Given the description of an element on the screen output the (x, y) to click on. 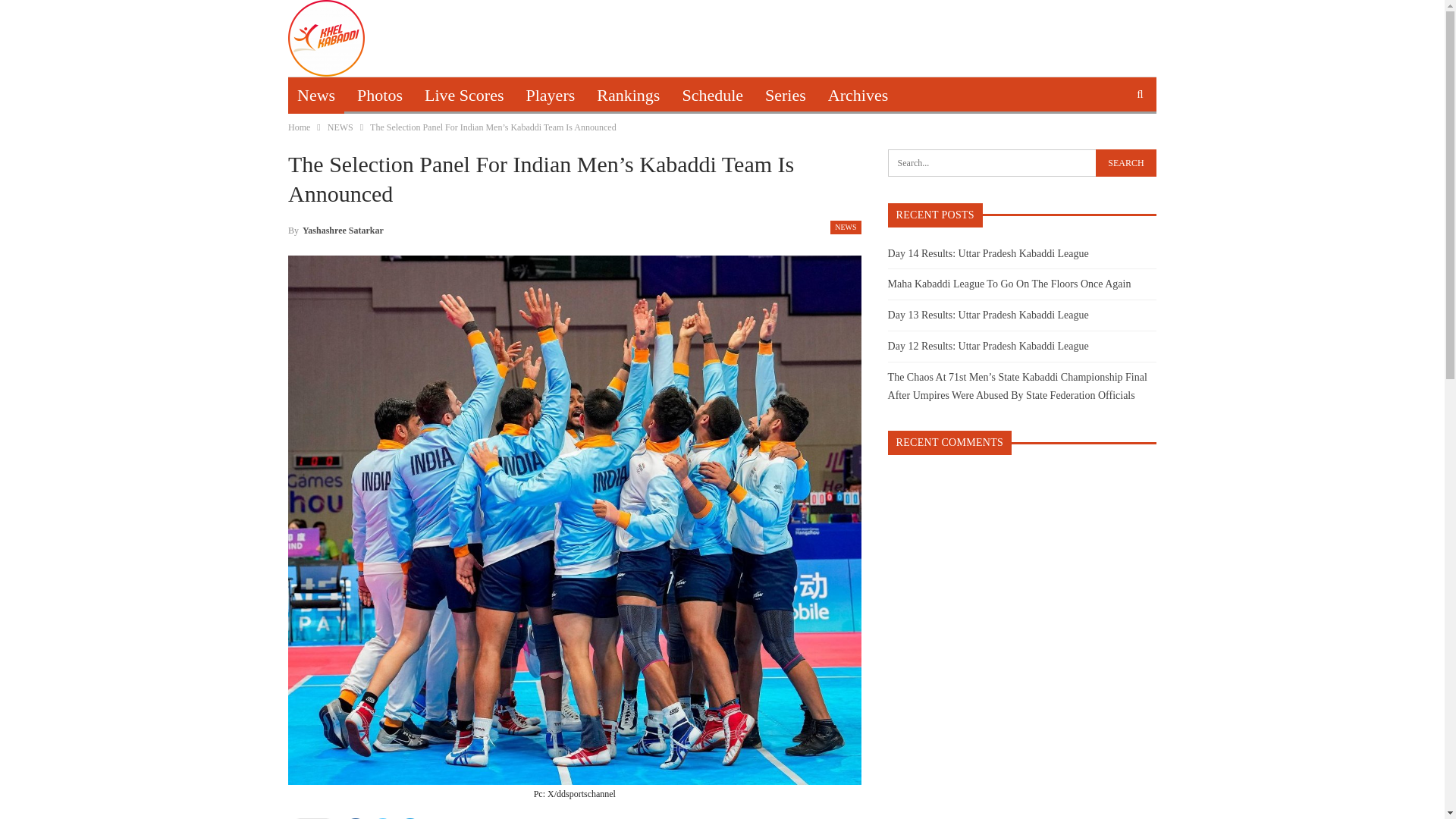
Schedule (712, 94)
Archives (857, 94)
Players (550, 94)
Rankings (628, 94)
By Yashashree Satarkar (336, 230)
Home (299, 126)
Search for: (1022, 162)
Series (785, 94)
Browse Author Articles (336, 230)
Search (1126, 162)
Search (1126, 162)
Live Scores (463, 94)
Photos (379, 94)
NEWS (844, 226)
NEWS (340, 126)
